Given the description of an element on the screen output the (x, y) to click on. 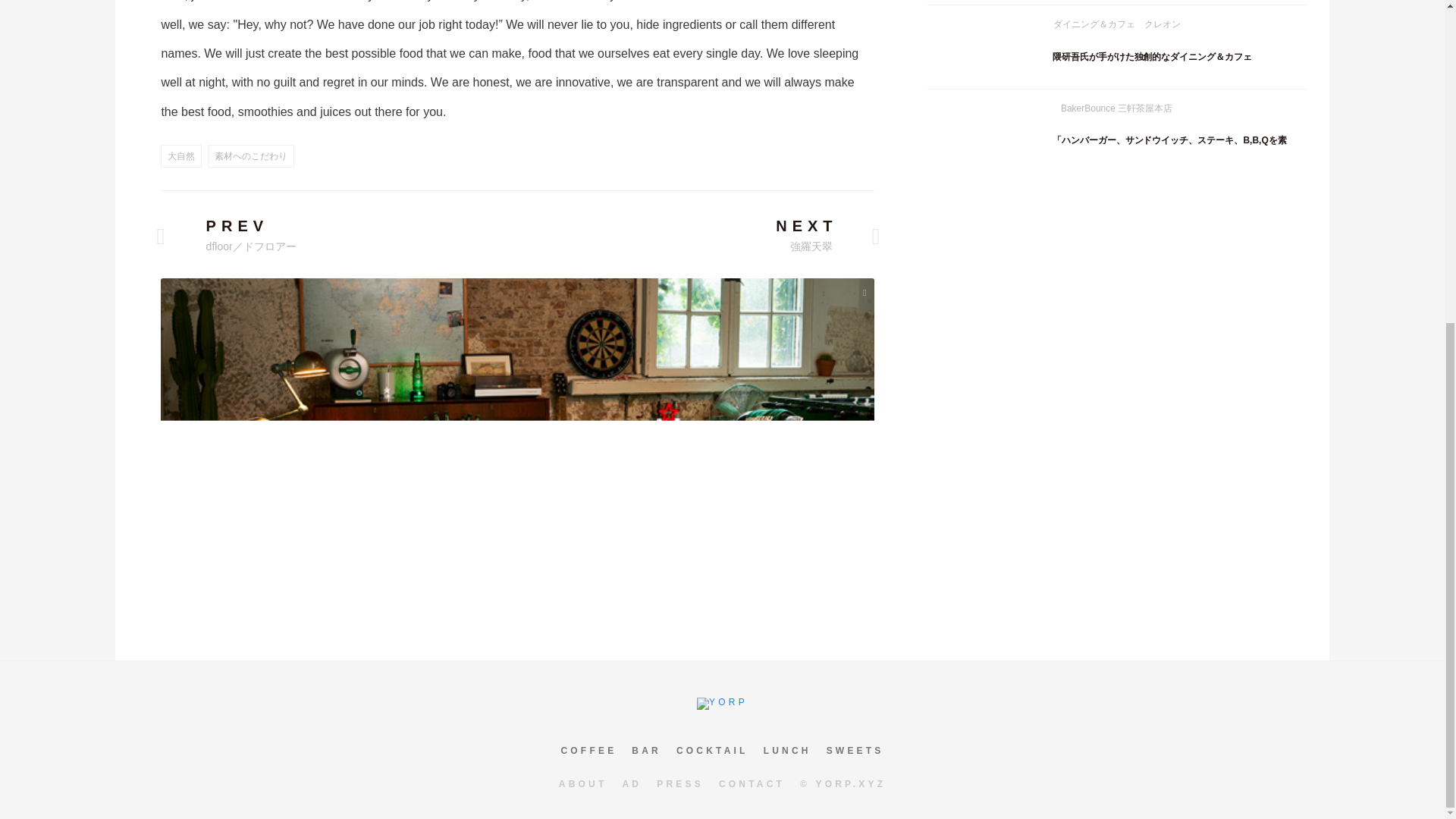
BAR (646, 750)
ABOUT (583, 783)
LUNCH (786, 750)
CONTACT (751, 783)
PRESS (679, 783)
AD (631, 783)
COFFEE (587, 750)
COCKTAIL (712, 750)
SWEETS (855, 750)
